Given the description of an element on the screen output the (x, y) to click on. 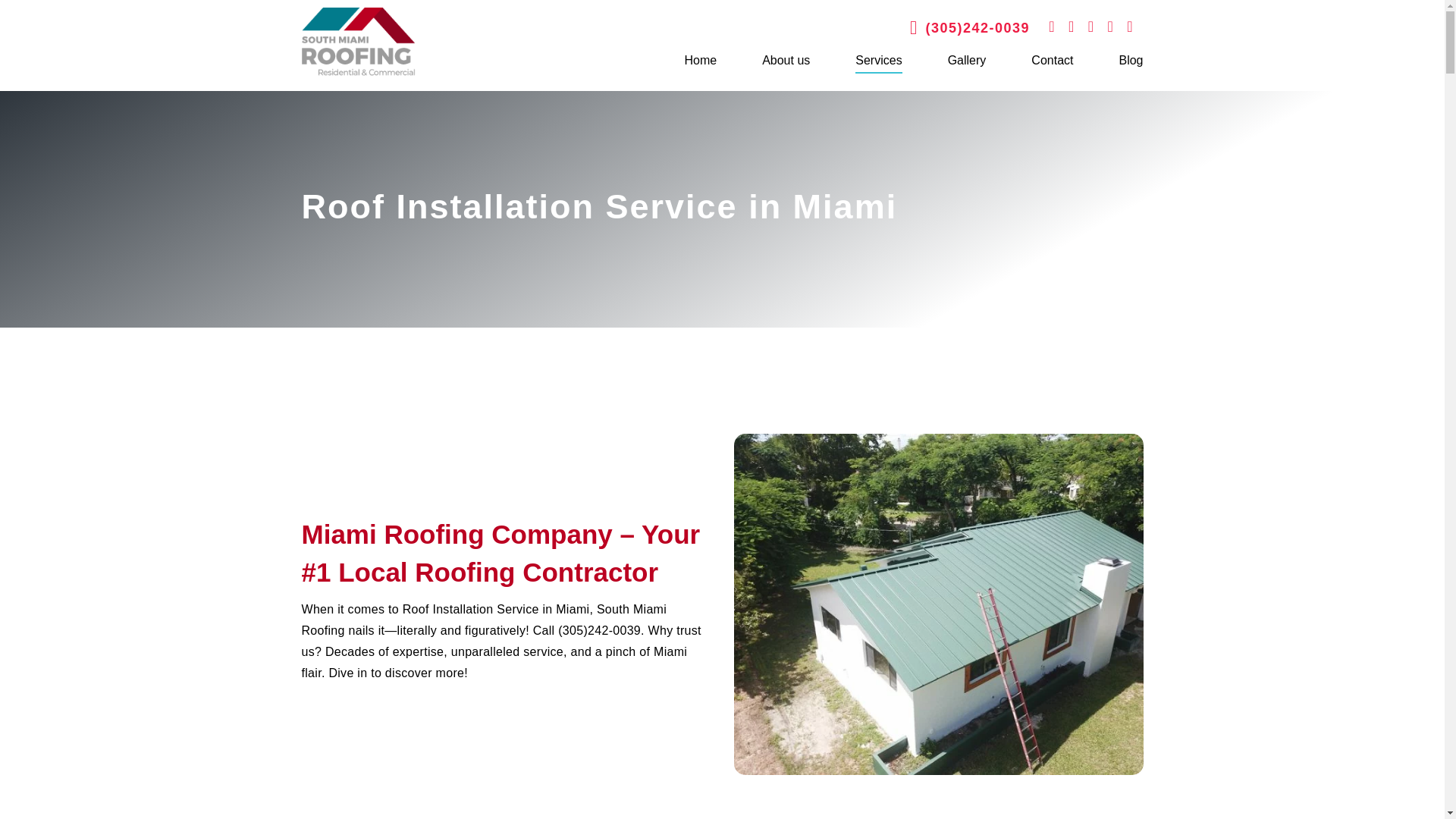
Services (878, 60)
Home (700, 60)
Contact (1051, 60)
Gallery (967, 60)
About us (785, 60)
Blog (1130, 60)
